Given the description of an element on the screen output the (x, y) to click on. 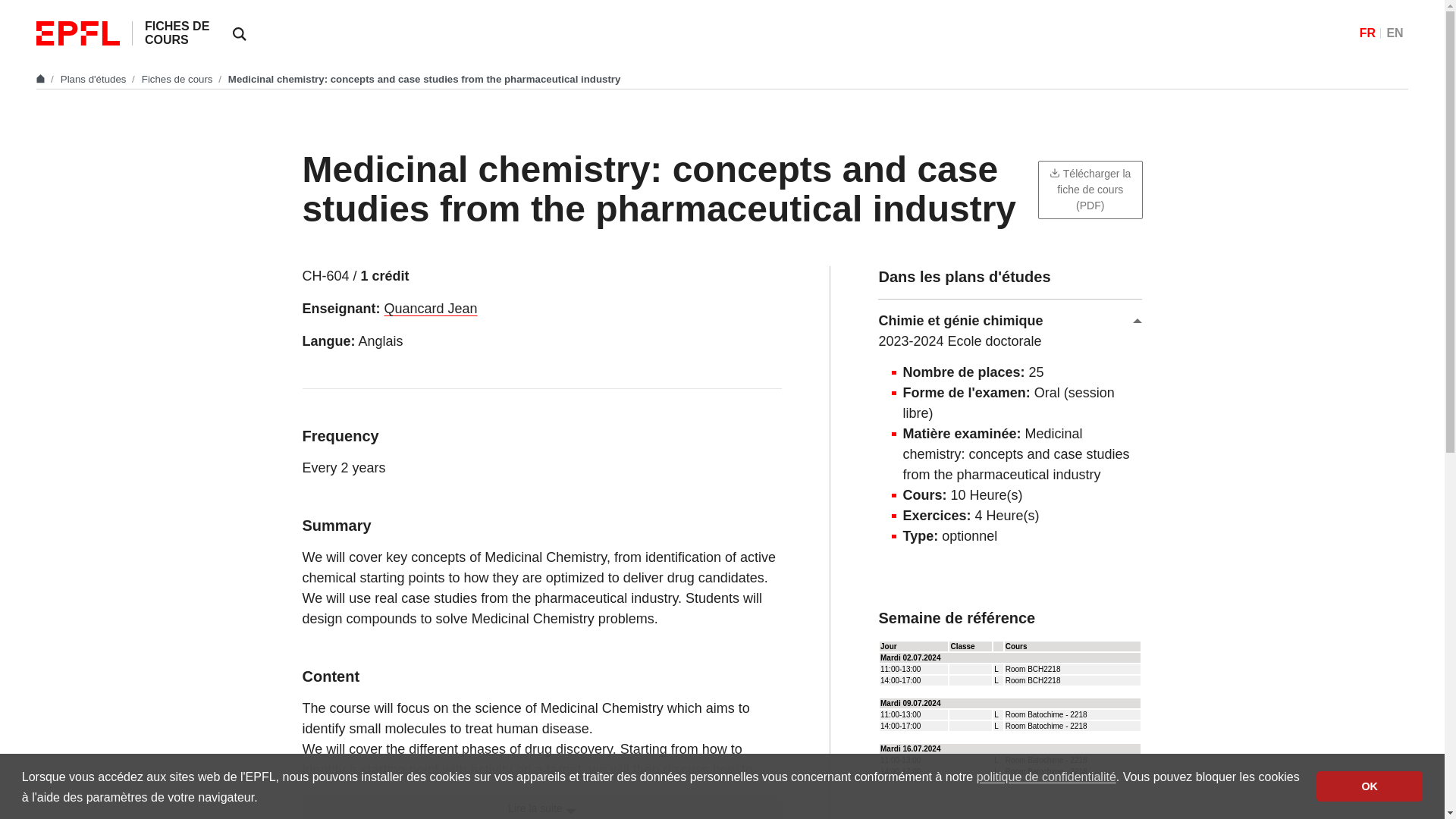
Lire la suite (541, 807)
Quancard Jean (430, 308)
EN (1393, 33)
Fiches de cours (178, 79)
OK (1369, 786)
FICHES DE COURS (176, 32)
Aller au site principal (42, 79)
Rechercher sur le site (240, 33)
